Given the description of an element on the screen output the (x, y) to click on. 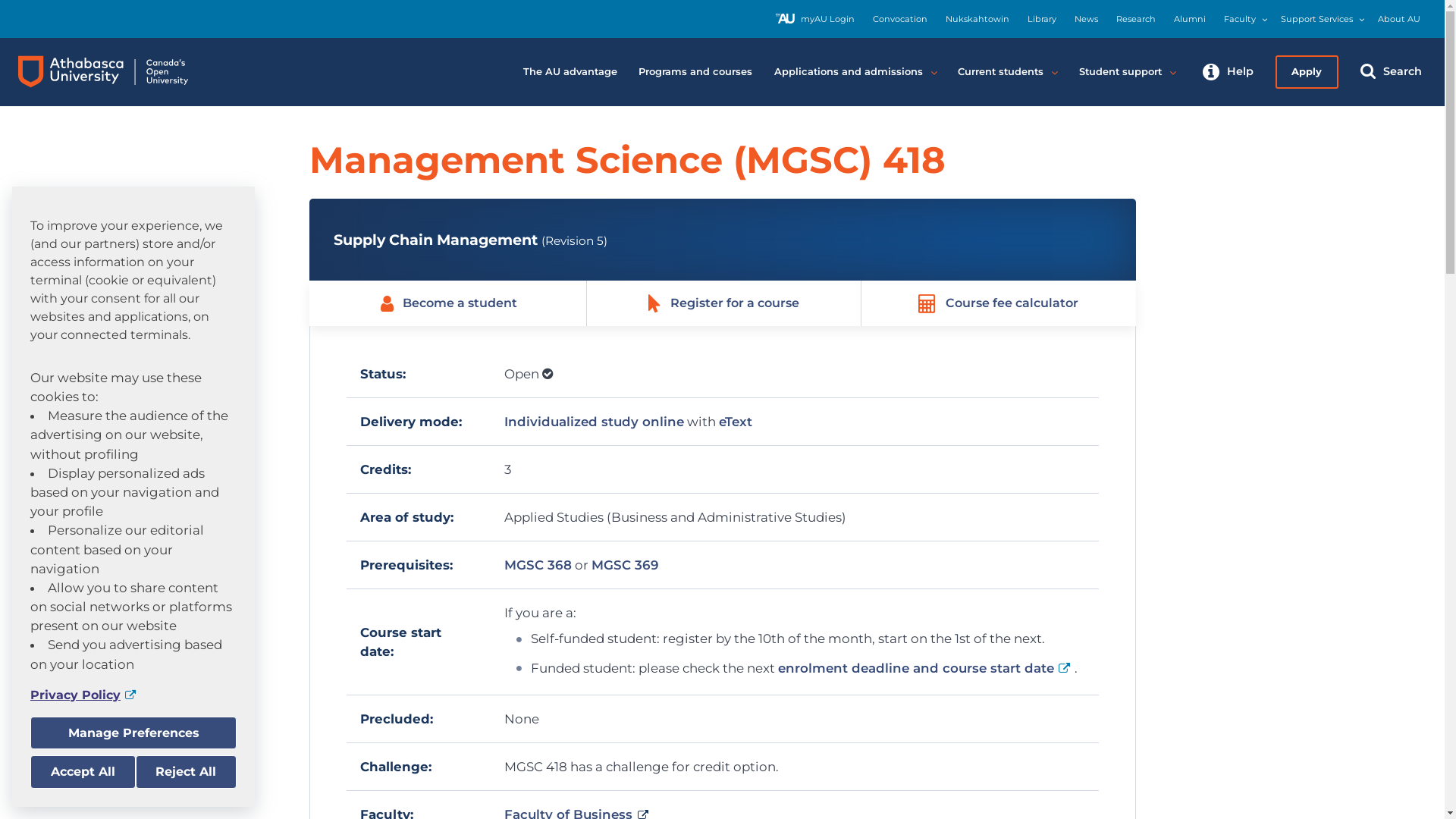
MGSC 369 Element type: text (624, 564)
Applications and admissions Element type: text (855, 71)
Skip to main content Element type: text (0, 0)
Privacy Policy Element type: text (133, 695)
eText Element type: text (735, 421)
Course fee calculator Element type: text (998, 303)
News Element type: text (1086, 18)
Convocation Element type: text (899, 18)
Register for a course Element type: text (723, 303)
Search Element type: text (1391, 71)
Current students Element type: text (1007, 71)
Manage Preferences Element type: text (133, 732)
Faculty Element type: text (1239, 18)
About AU Element type: text (1398, 18)
Student support Element type: text (1126, 71)
Accept All Element type: text (82, 771)
Library Element type: text (1041, 18)
myAU Login Element type: text (814, 18)
The AU advantage Element type: text (569, 71)
MGSC 368 Element type: text (537, 564)
Support Services Element type: text (1316, 18)
Individualized study online Element type: text (594, 421)
Help Element type: text (1227, 71)
Apply Element type: text (1306, 71)
Alumni Element type: text (1189, 18)
Nukskahtowin Element type: text (977, 18)
Research Element type: text (1135, 18)
Programs and courses Element type: text (695, 71)
Reject All Element type: text (185, 771)
Become a student Element type: text (449, 303)
enrolment deadline and course start date Element type: text (926, 667)
